Given the description of an element on the screen output the (x, y) to click on. 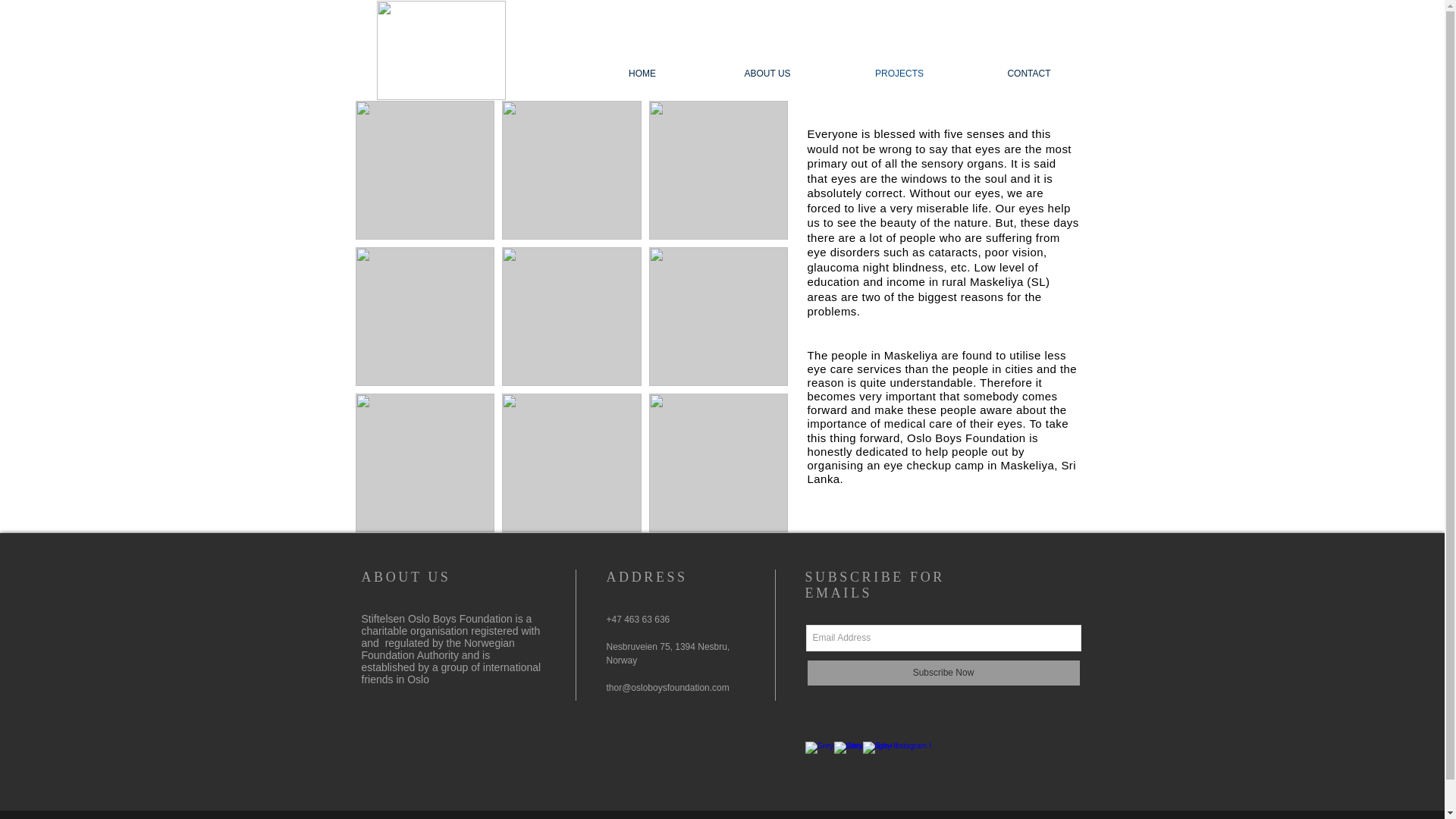
Subscribe Now (942, 673)
HOME (641, 73)
PROJECTS (898, 73)
ABOUT US (767, 73)
CONTACT (1028, 73)
